Given the description of an element on the screen output the (x, y) to click on. 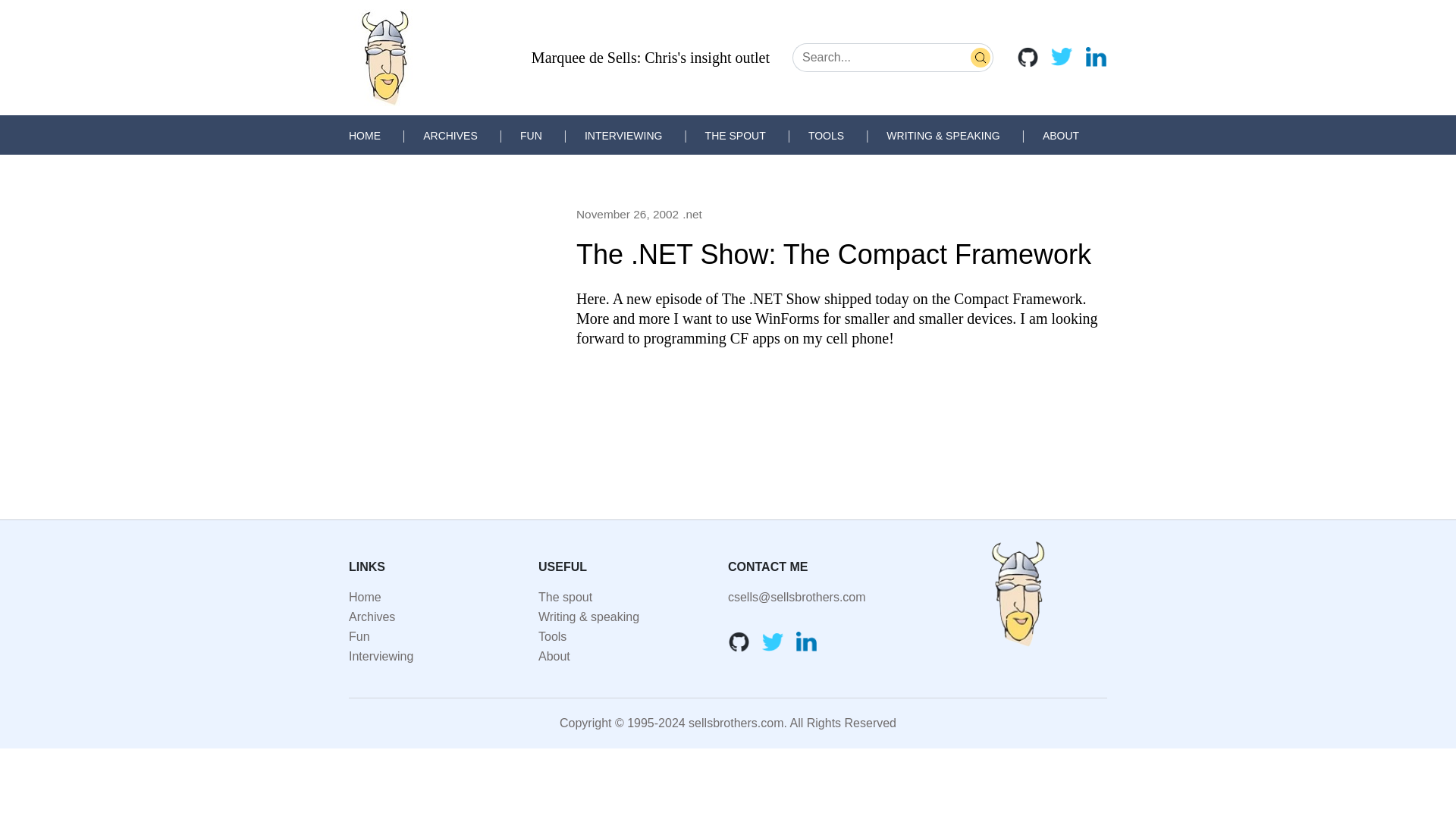
Here (590, 298)
.net (691, 214)
HOME (364, 135)
Fun (359, 635)
INTERVIEWING (623, 135)
GitHub (739, 640)
ARCHIVES (450, 135)
LinkedIn (1095, 56)
November 26, 2002 (627, 214)
Interviewing (381, 656)
Marquee de Sells: Chris's insight outlet (650, 57)
About (554, 656)
GitHub (1027, 56)
Home (365, 596)
The spout (565, 596)
